Given the description of an element on the screen output the (x, y) to click on. 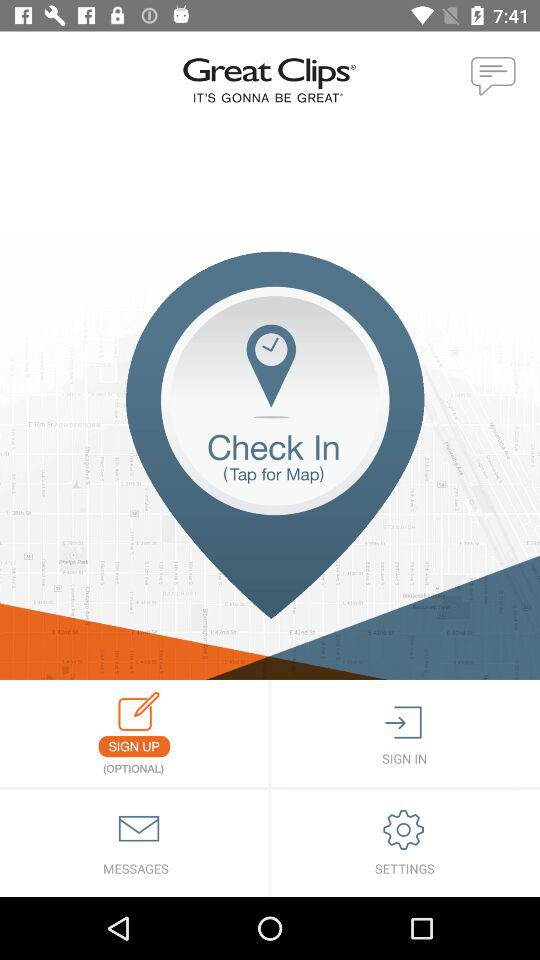
view messages (134, 843)
